Given the description of an element on the screen output the (x, y) to click on. 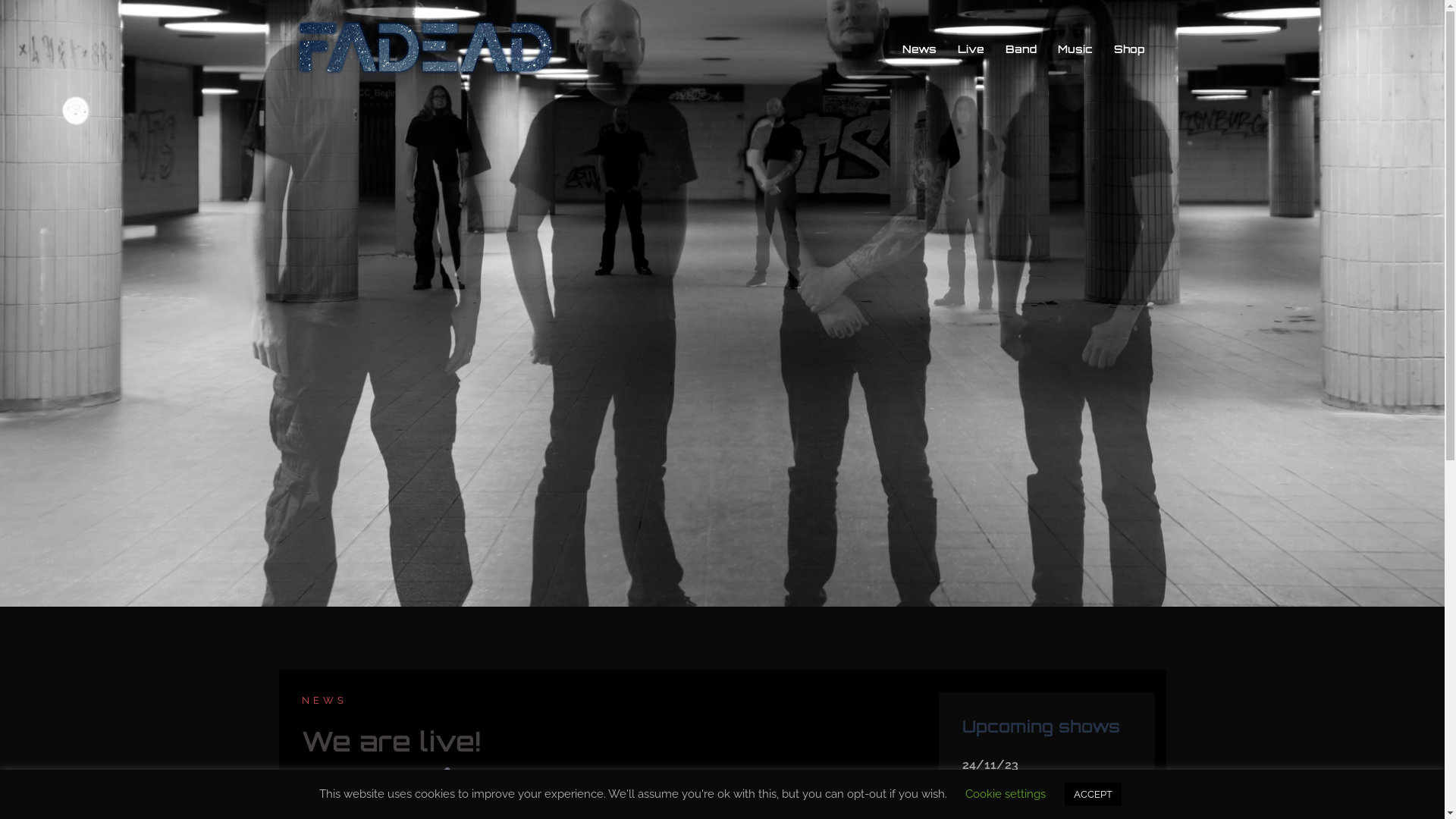
ACCEPT Element type: text (1092, 794)
News Element type: text (919, 49)
Live Element type: text (970, 49)
FEBRUARY 12, 2021 Element type: text (387, 773)
FADEAD Element type: hover (425, 47)
Underground Element type: text (1076, 785)
Cookie settings Element type: text (1005, 793)
Music Element type: text (1074, 49)
Band Element type: text (1020, 49)
NEWS Element type: text (324, 700)
Shop Element type: text (1128, 49)
JOHN TURNER Element type: text (492, 773)
